Given the description of an element on the screen output the (x, y) to click on. 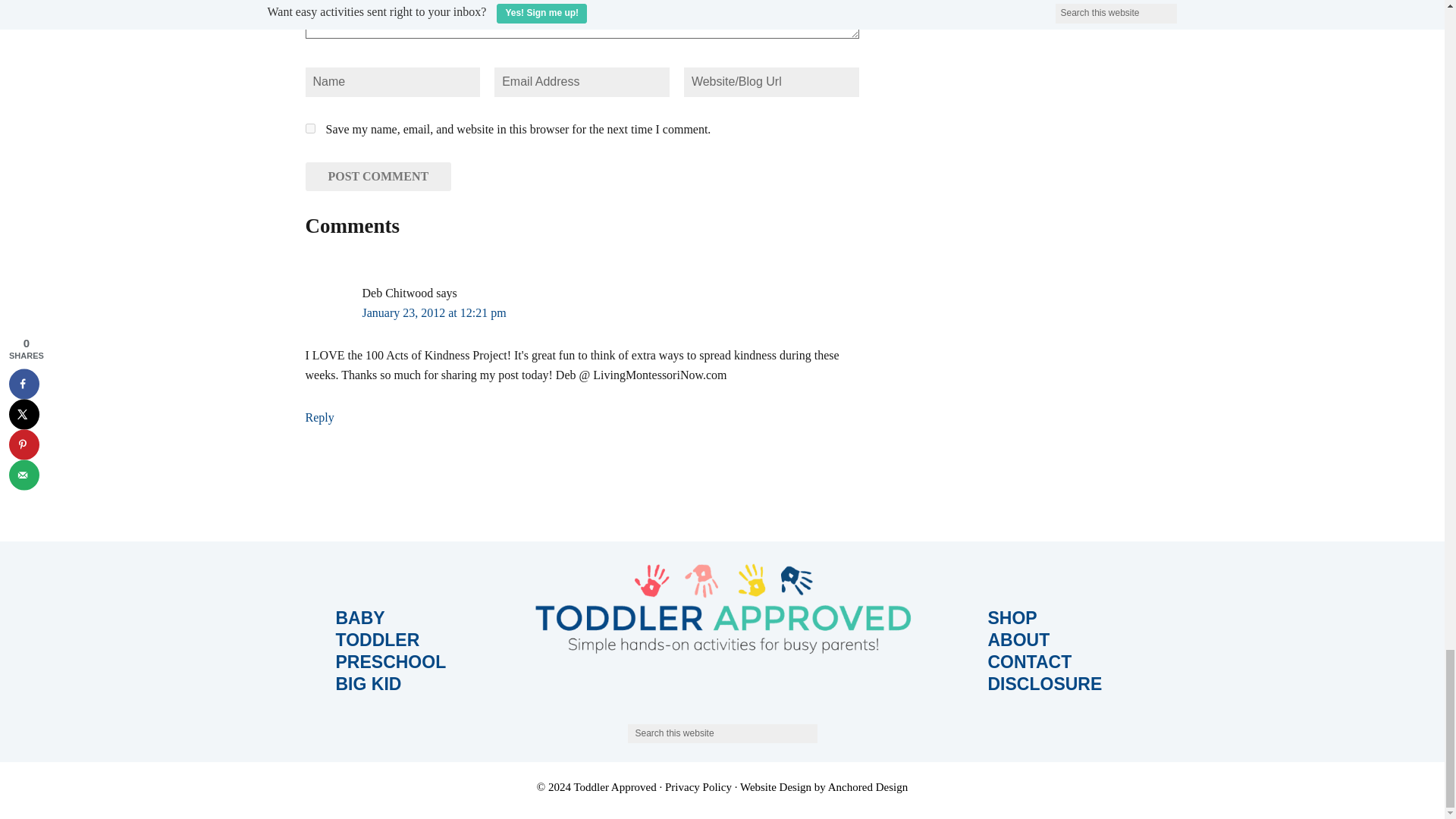
yes (309, 128)
Post Comment (377, 176)
